Given the description of an element on the screen output the (x, y) to click on. 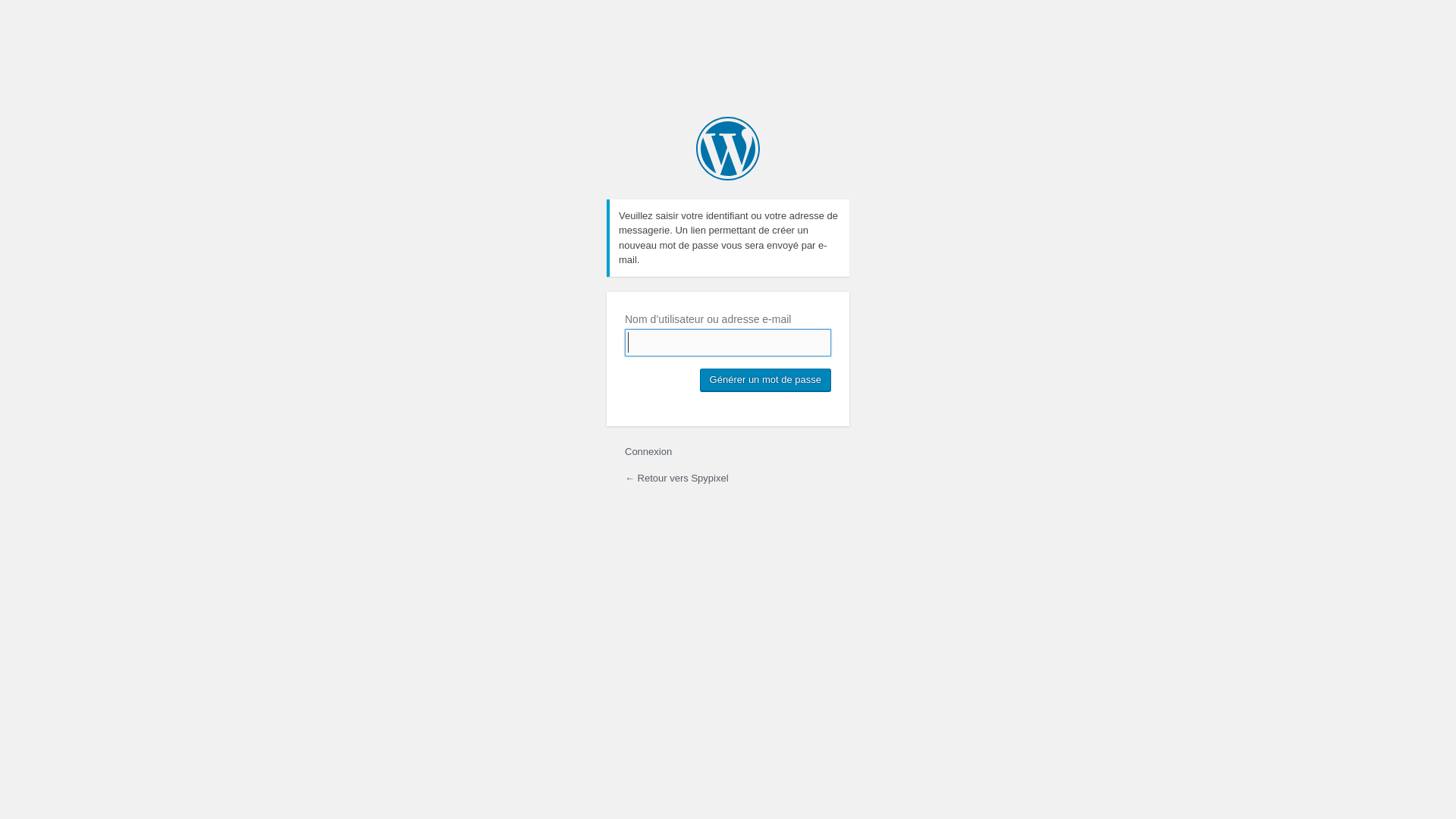
Connexion Element type: text (647, 451)
